Given the description of an element on the screen output the (x, y) to click on. 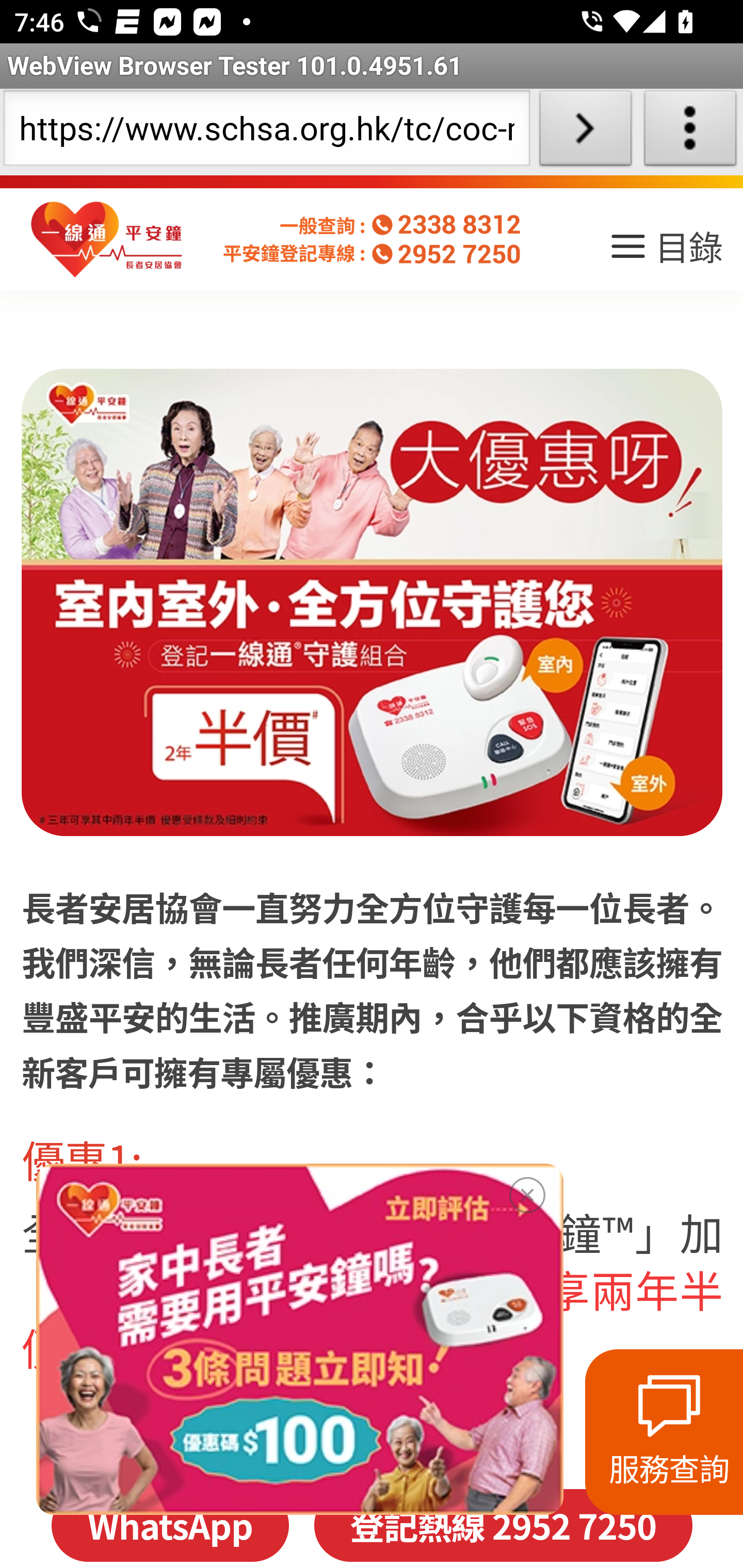
Load URL (585, 132)
About WebView (690, 132)
homepage (107, 240)
目錄 (665, 252)
Dec Coupon Code Allsize Popup 300x200 Yescta (299, 1338)
site.close (526, 1191)
服務查詢 (664, 1432)
